Given the description of an element on the screen output the (x, y) to click on. 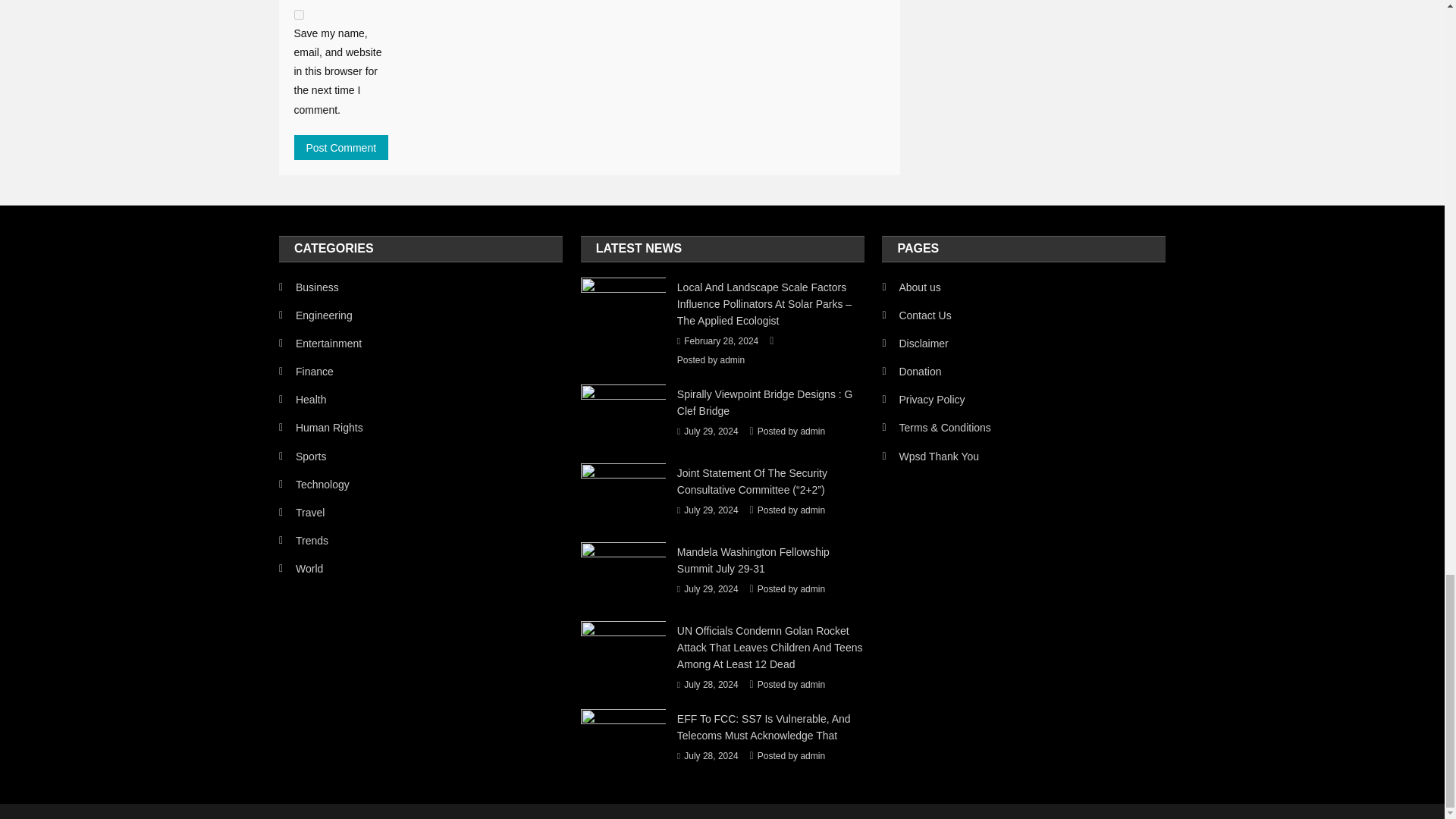
yes (299, 14)
Post Comment (341, 147)
